Given the description of an element on the screen output the (x, y) to click on. 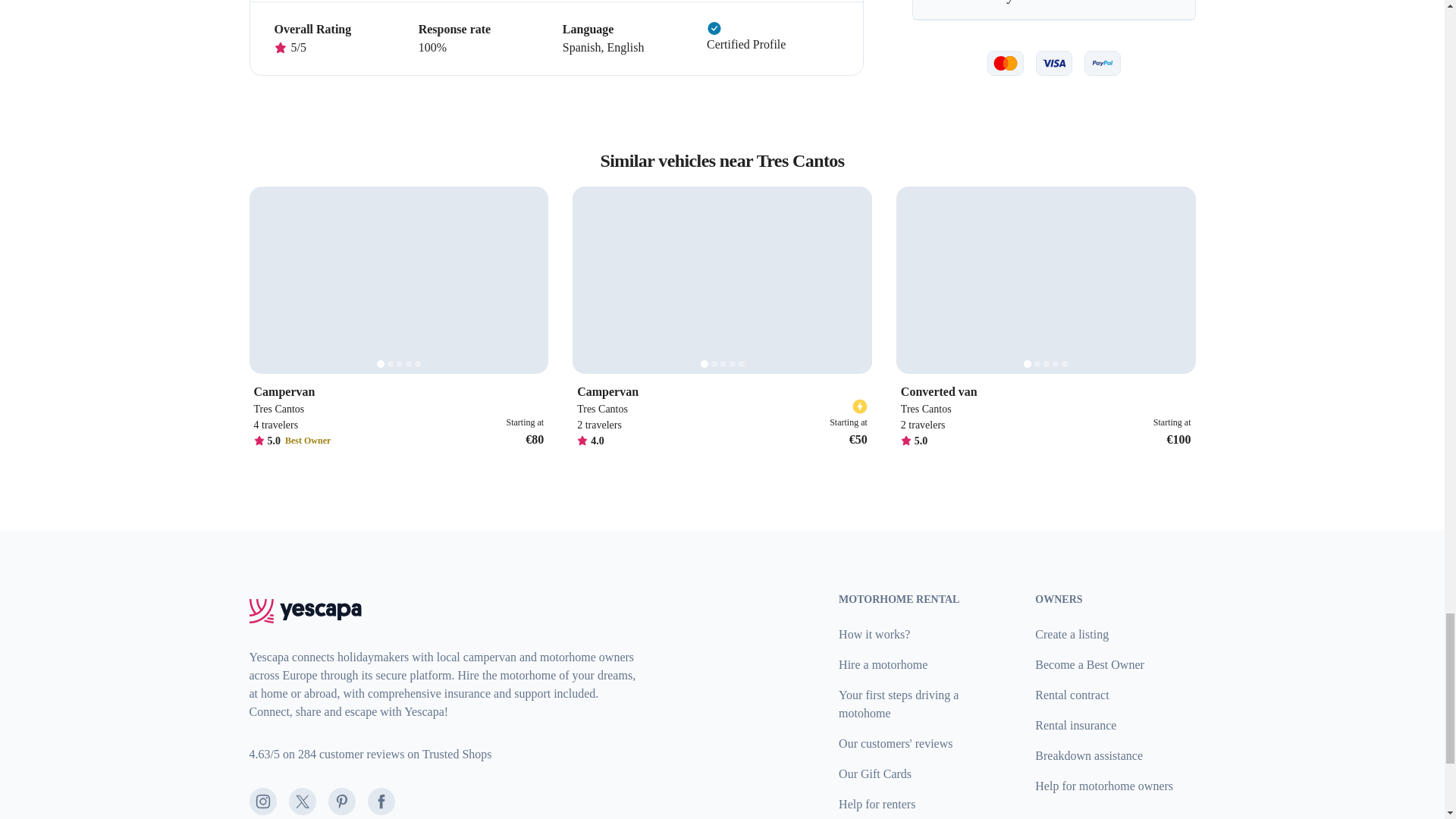
Campervan (721, 392)
yescapa.fr custom reviews (370, 754)
Converted van (1046, 392)
Campervan (398, 392)
